Given the description of an element on the screen output the (x, y) to click on. 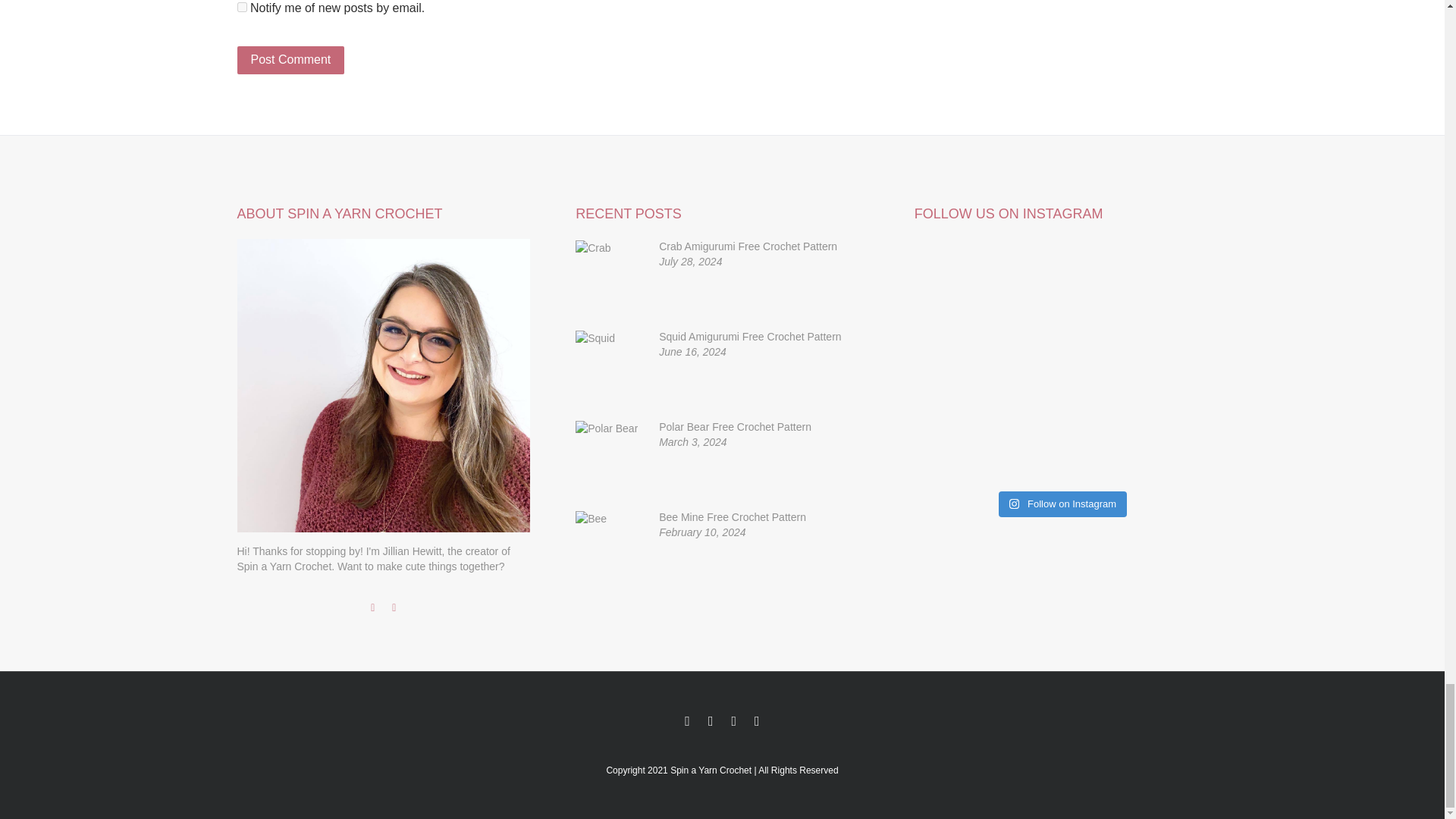
subscribe (240, 7)
Facebook (373, 606)
Instagram (394, 606)
Post Comment (289, 59)
